Given the description of an element on the screen output the (x, y) to click on. 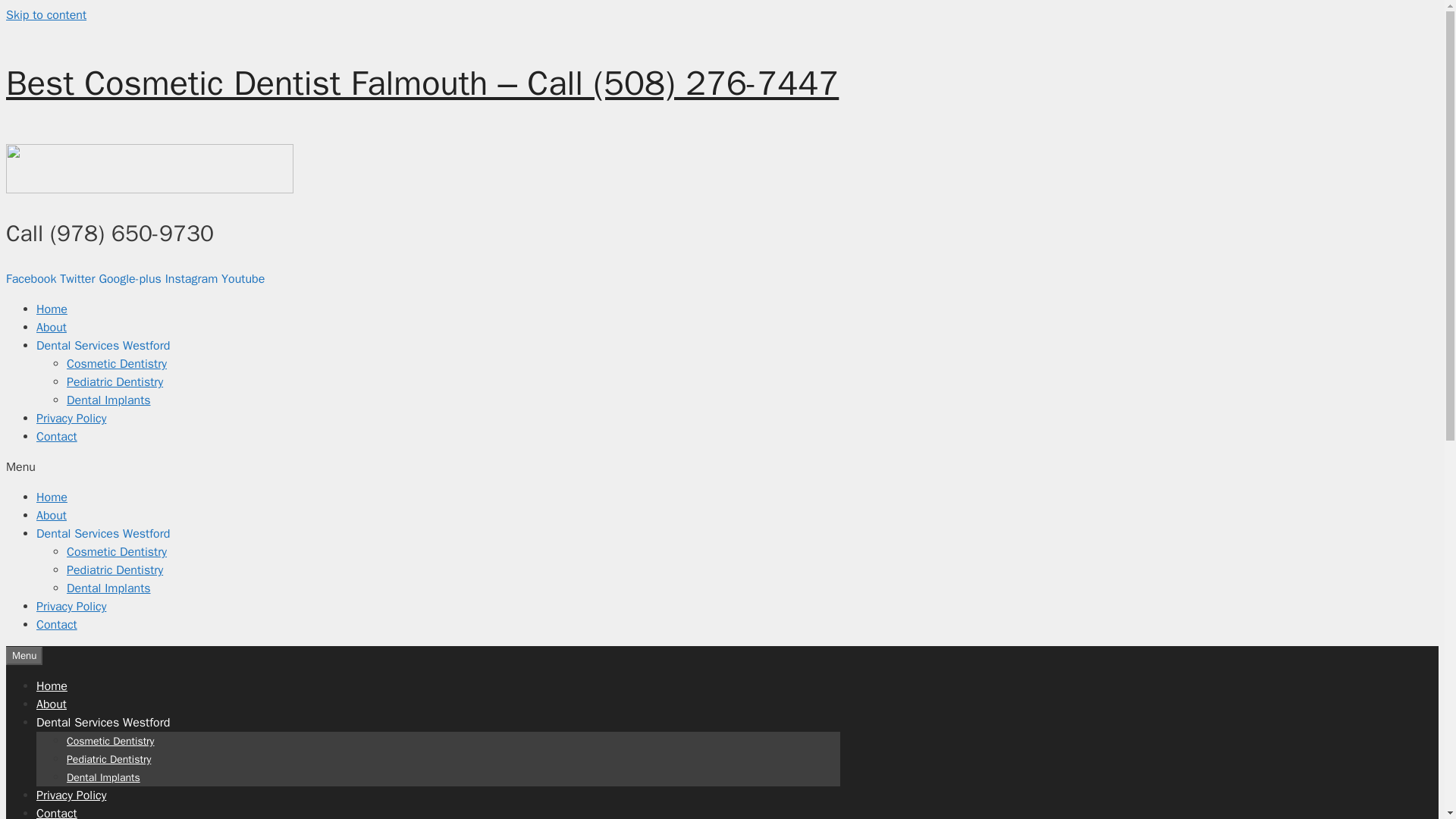
Contact (56, 436)
Menu (23, 656)
Dental Implants (108, 588)
Privacy Policy (71, 606)
Google-plus (131, 278)
Privacy Policy (71, 795)
Contact (56, 812)
Contact (56, 624)
Dental Services Westford (103, 345)
Dental Implants (102, 777)
